Given the description of an element on the screen output the (x, y) to click on. 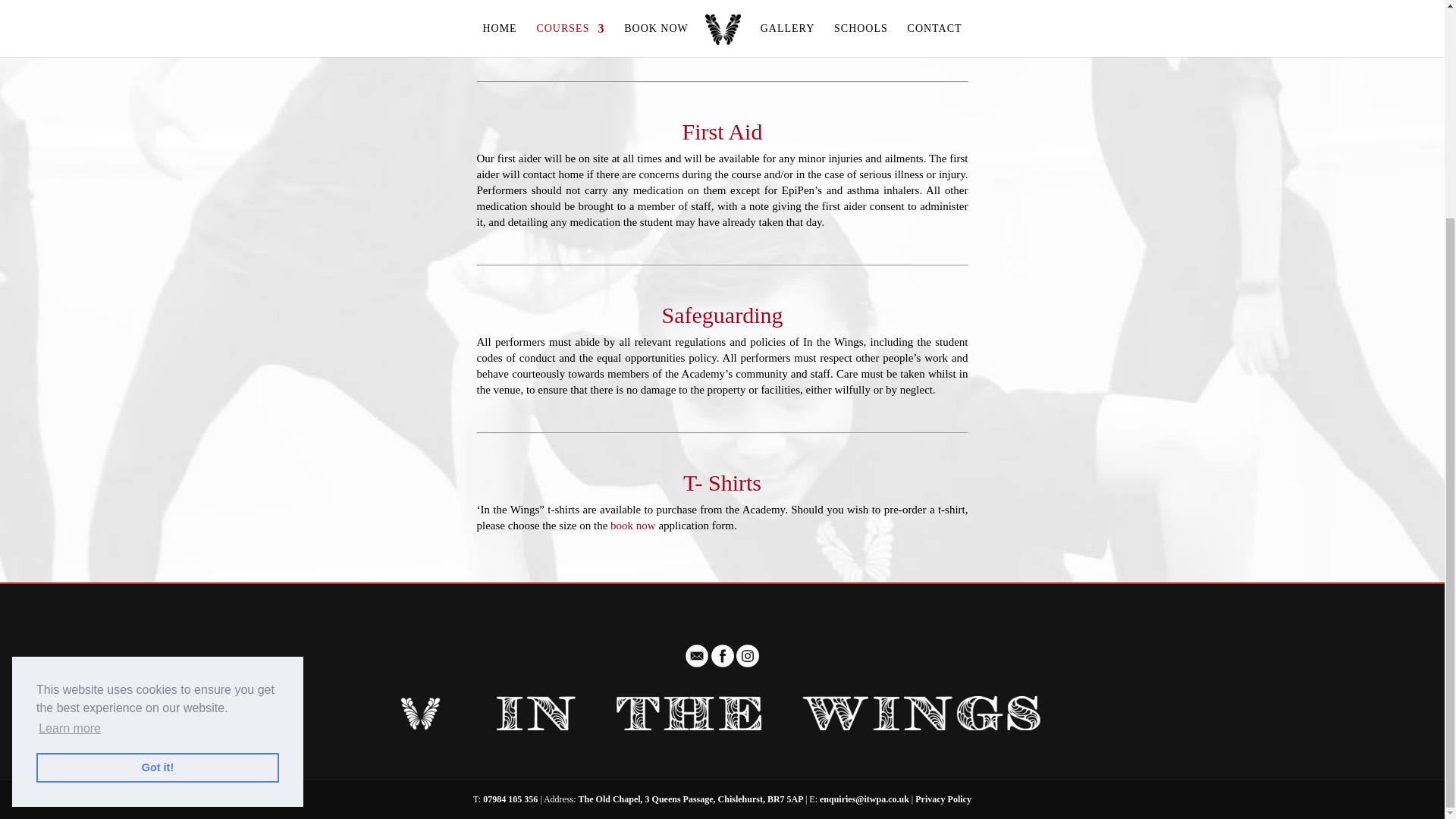
Got it! (157, 479)
Learn more (69, 440)
Privacy Policy (943, 798)
book now (633, 525)
